Given the description of an element on the screen output the (x, y) to click on. 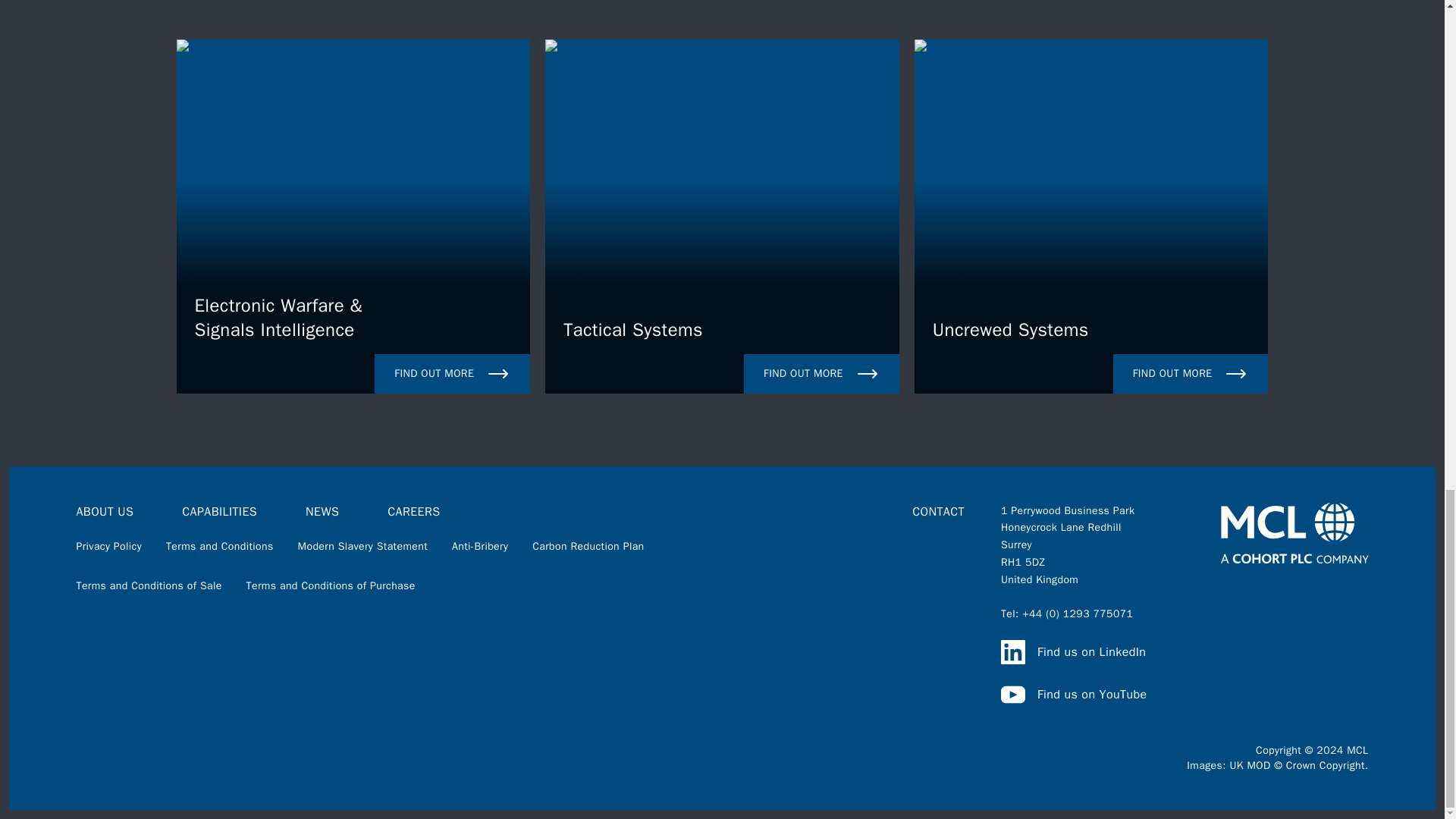
Carbon Reduction Plan (721, 216)
Terms and Conditions (587, 546)
Modern Slavery Statement (219, 546)
Find us on YouTube (363, 546)
Terms and Conditions of Sale (1091, 216)
NEWS (1074, 694)
Terms and Conditions of Purchase (148, 585)
Find us on LinkedIn (322, 511)
